Given the description of an element on the screen output the (x, y) to click on. 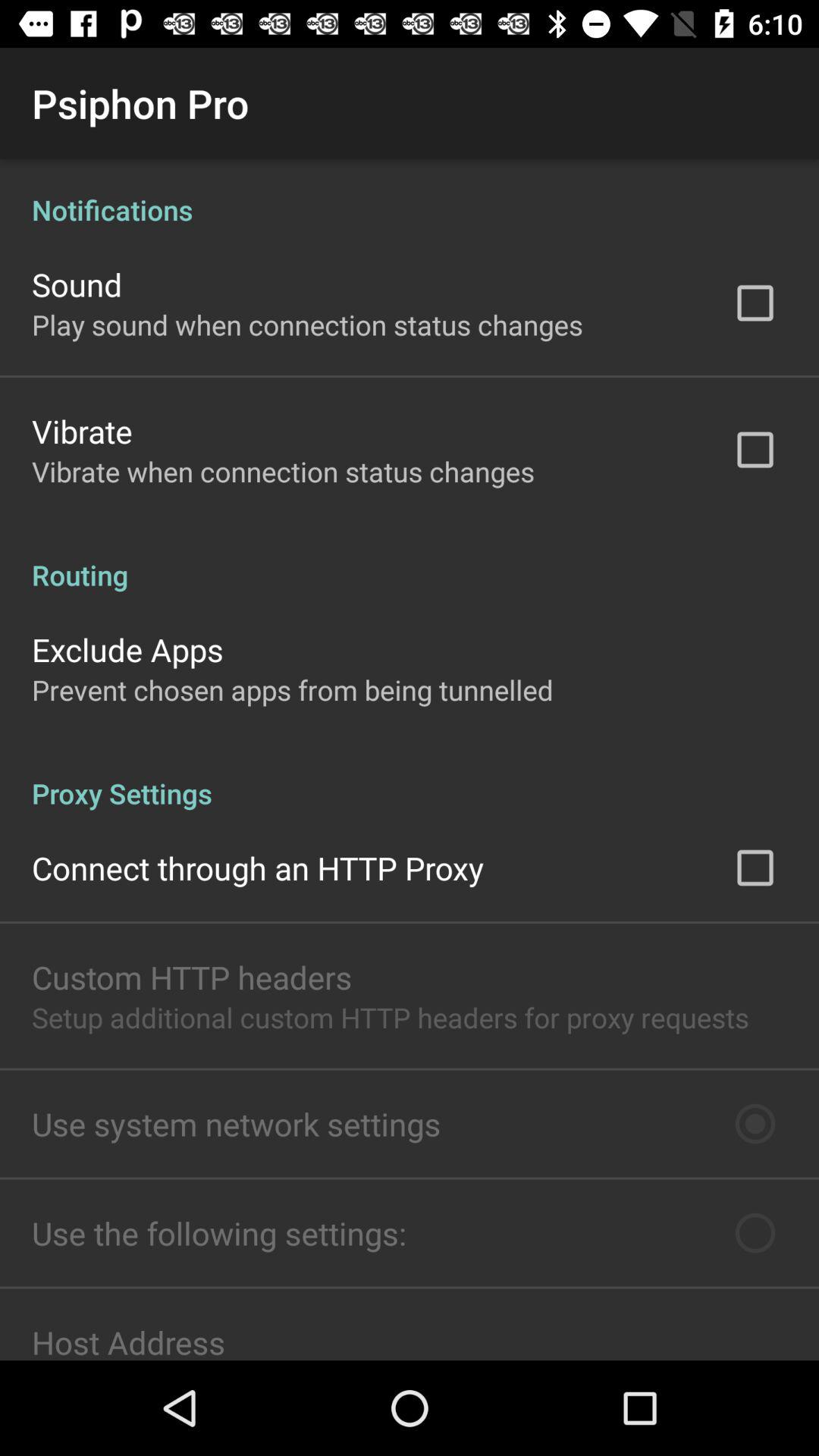
flip until the prevent chosen apps app (292, 689)
